Given the description of an element on the screen output the (x, y) to click on. 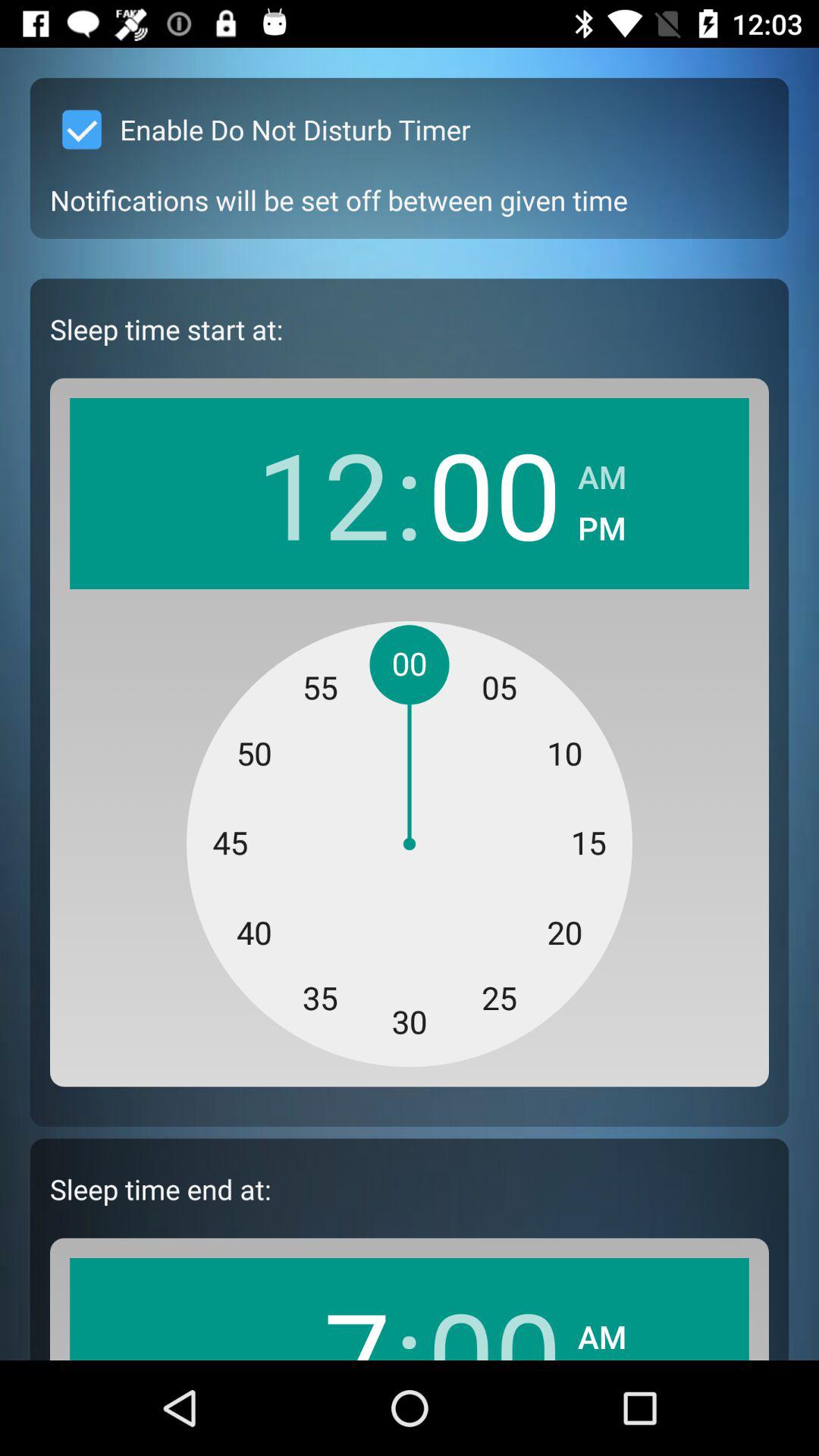
swipe until the 12 item (323, 493)
